Given the description of an element on the screen output the (x, y) to click on. 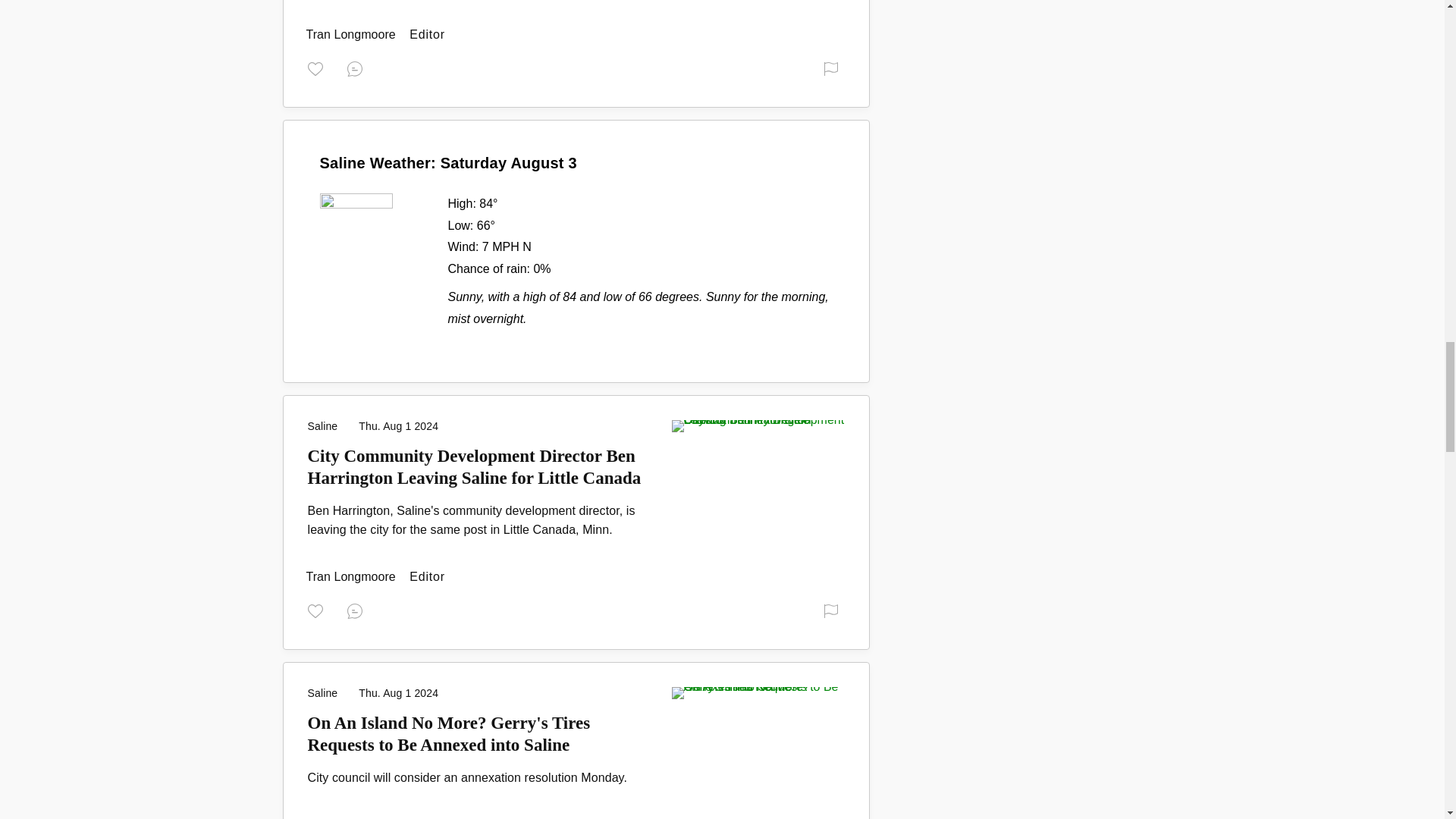
Editor (351, 33)
Editor (351, 576)
Reply (357, 67)
Thank (318, 67)
